Given the description of an element on the screen output the (x, y) to click on. 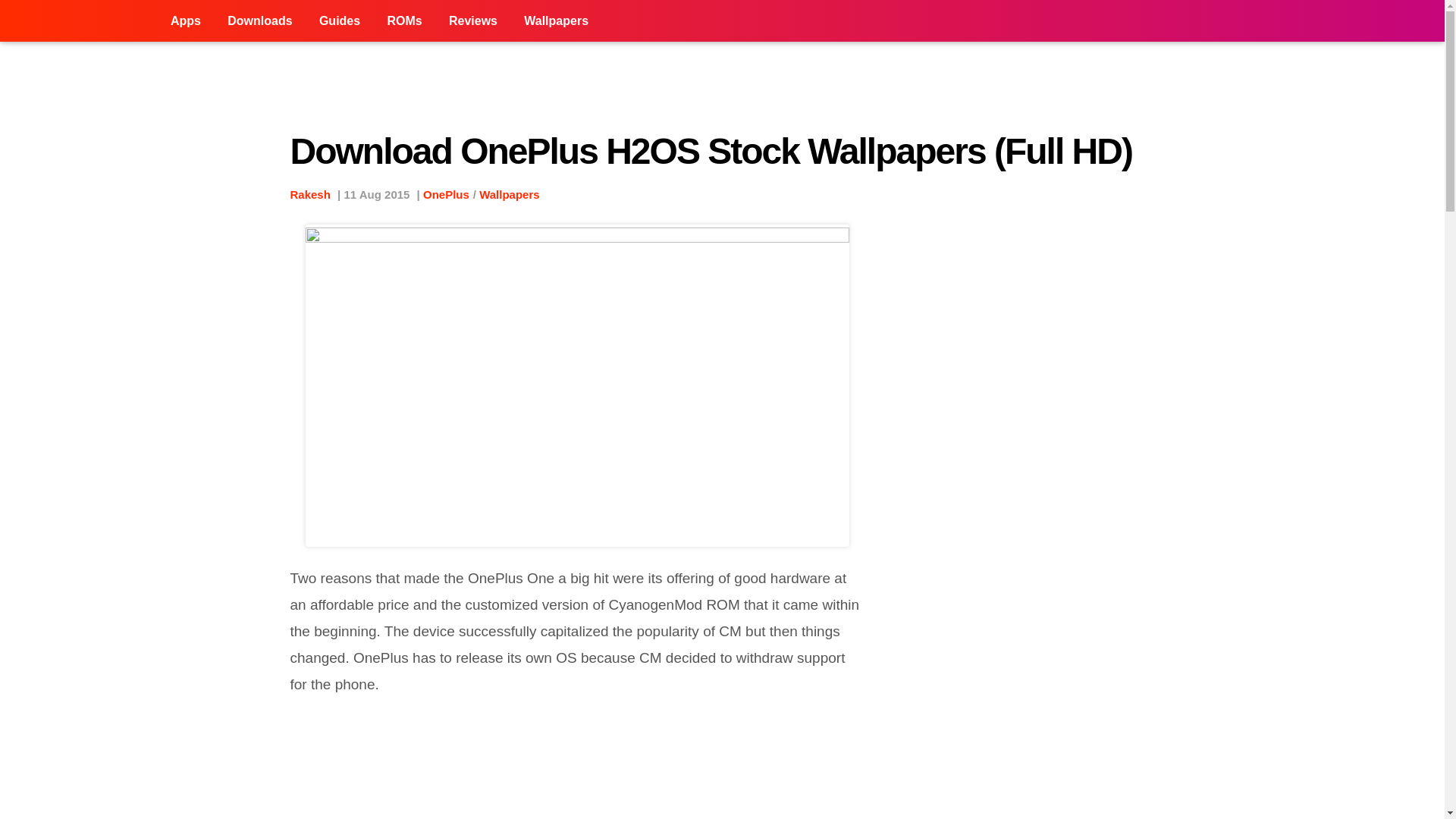
Downloads (258, 20)
ROMs (403, 20)
Wallpapers (555, 20)
Reviews (473, 20)
DroidViews (79, 20)
Apps (185, 20)
Guides (339, 20)
OnePlus (445, 194)
Wallpapers (508, 194)
Rakesh (309, 194)
